Given the description of an element on the screen output the (x, y) to click on. 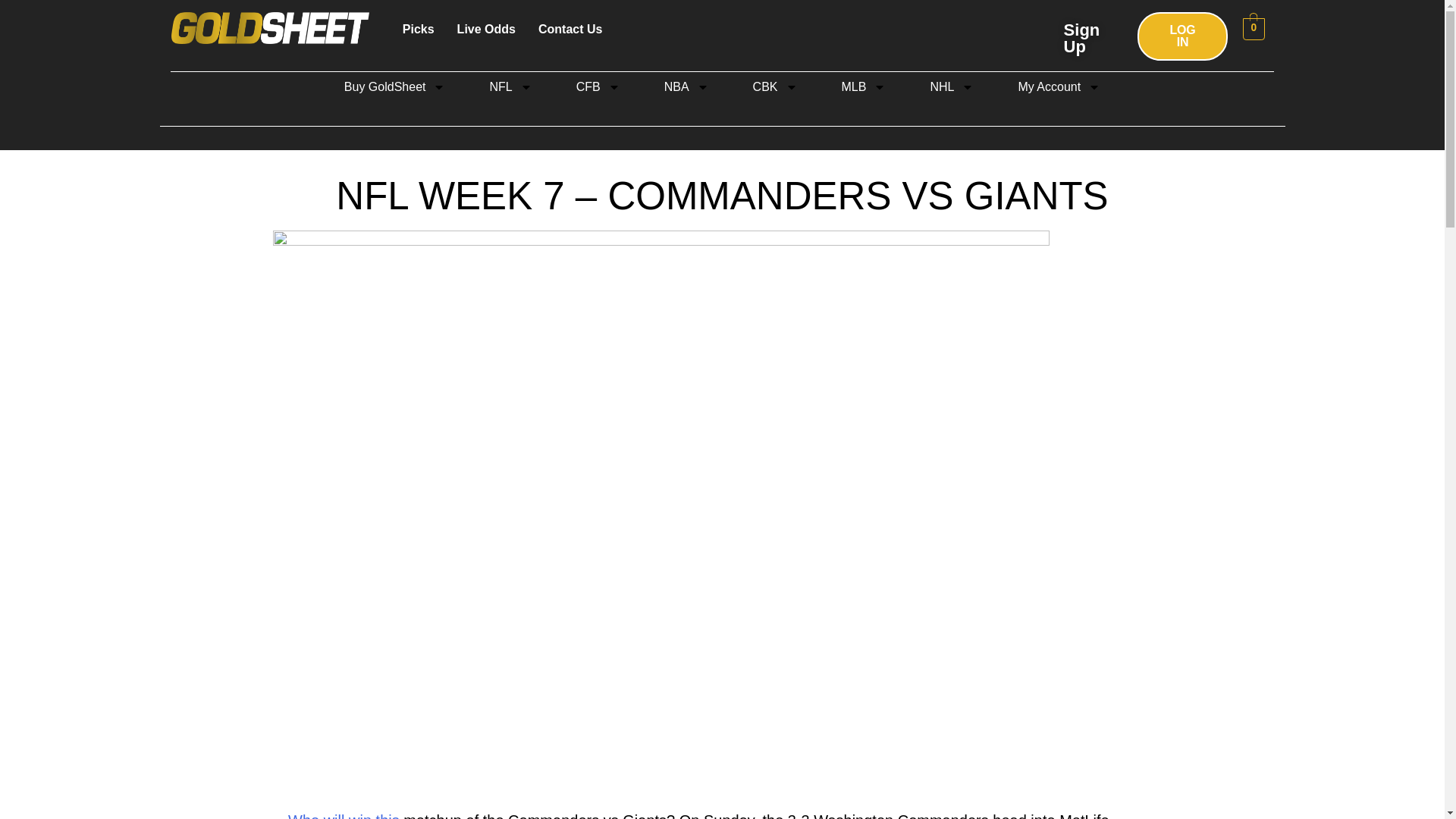
View your shopping cart (1254, 28)
CFB (598, 86)
Picks (418, 29)
CBK (774, 86)
0 (1254, 28)
Sign Up (1082, 38)
Buy GoldSheet (394, 86)
Contact Us (569, 29)
NBA (686, 86)
NFL (510, 86)
LOG IN (1182, 36)
Live Odds (486, 29)
